Given the description of an element on the screen output the (x, y) to click on. 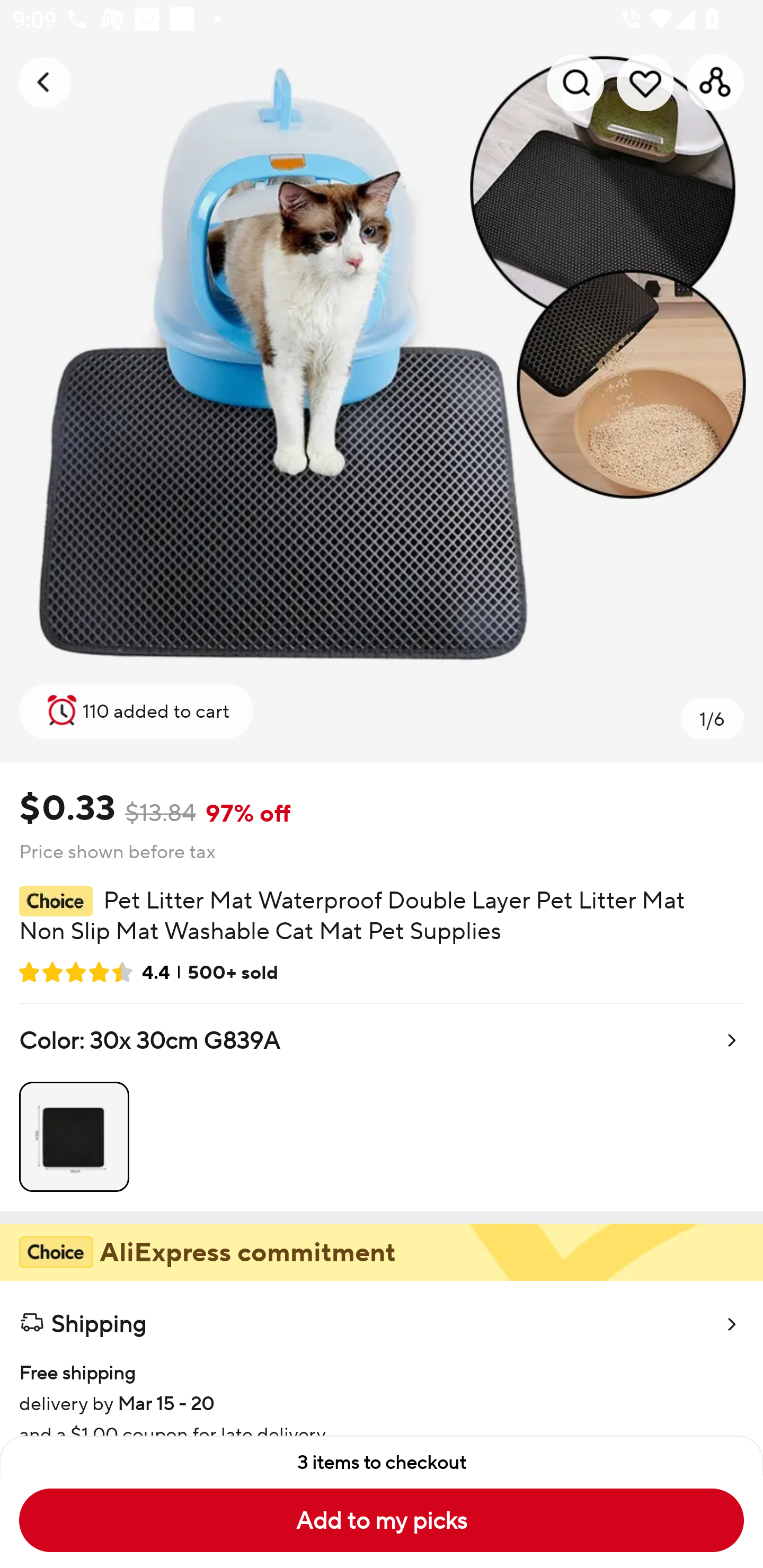
Navigate up (44, 82)
Color: 30x 30cm G839A  (381, 1106)
Add to my picks (381, 1520)
